Given the description of an element on the screen output the (x, y) to click on. 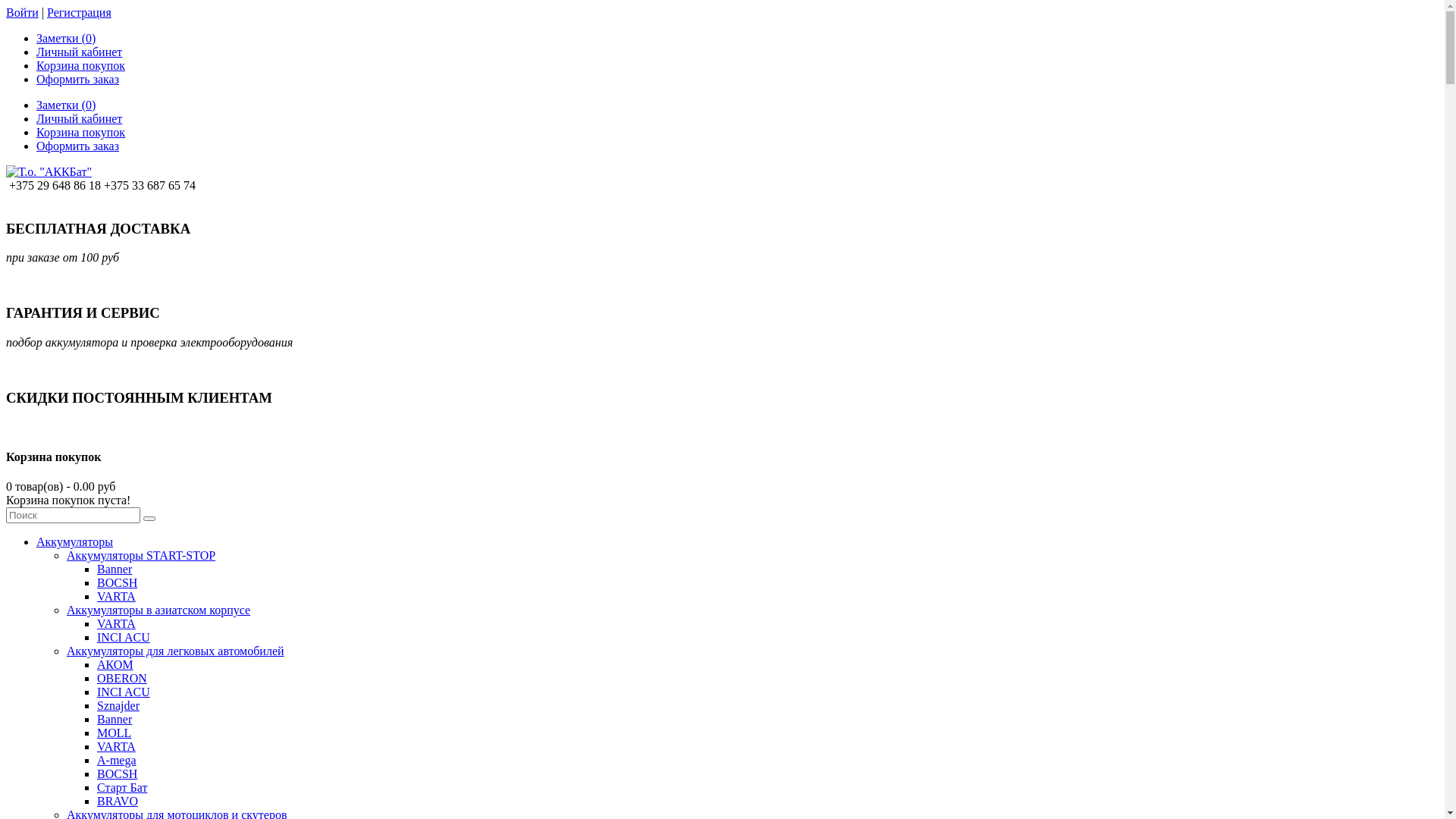
MOLL Element type: text (114, 732)
BRAVO Element type: text (117, 800)
VARTA Element type: text (116, 623)
BOCSH Element type: text (117, 773)
OBERON Element type: text (122, 677)
VARTA Element type: text (116, 746)
INCI ACU Element type: text (123, 636)
BOCSH Element type: text (117, 582)
A-mega Element type: text (116, 759)
Banner Element type: text (114, 718)
VARTA Element type: text (116, 595)
Sznajder Element type: text (118, 705)
Banner Element type: text (114, 568)
INCI ACU Element type: text (123, 691)
